Given the description of an element on the screen output the (x, y) to click on. 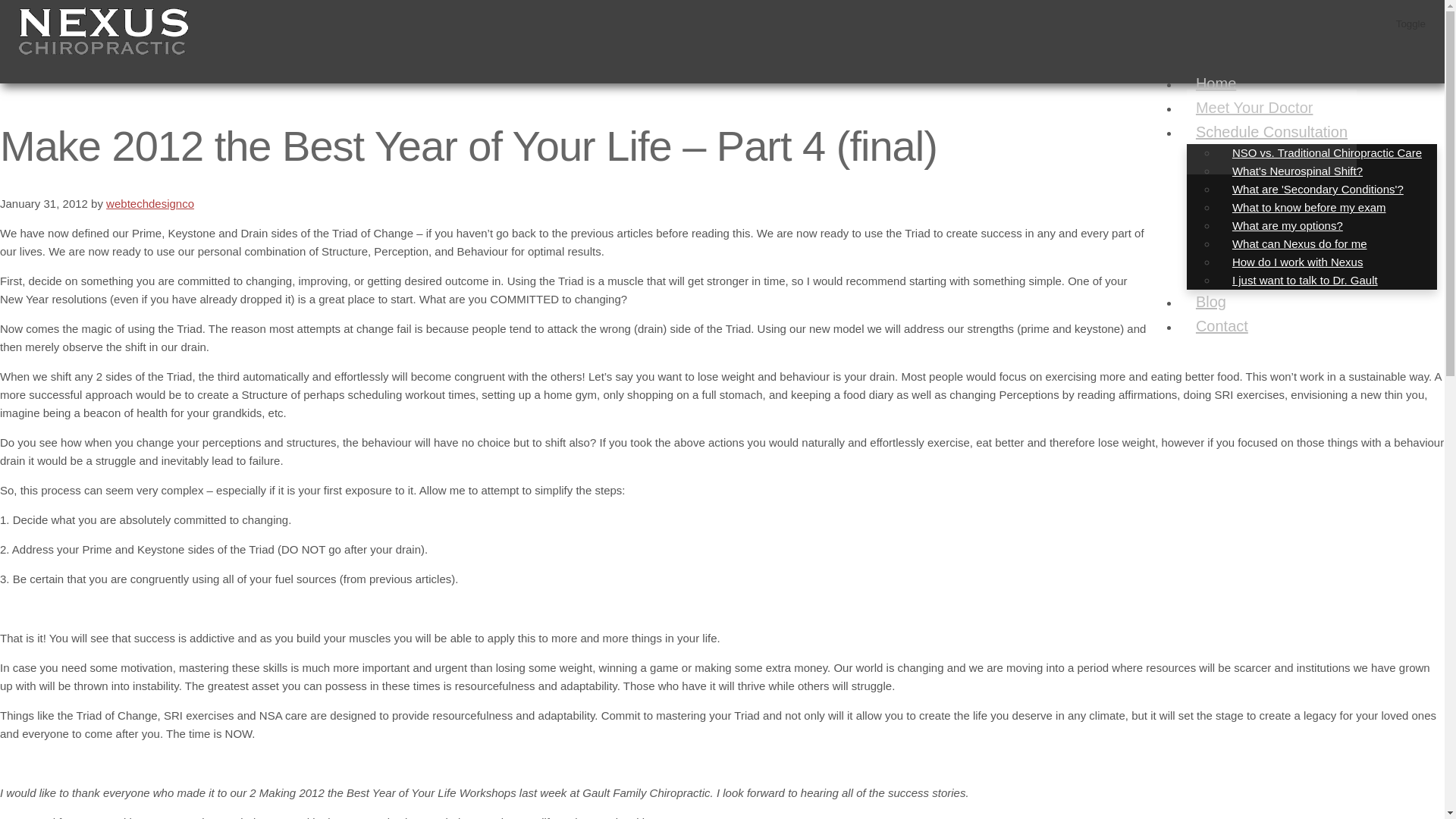
Meet Your Doctor (1254, 107)
How do I work with Nexus (1297, 261)
What to know before my exam (1308, 207)
webtechdesignco (149, 203)
What are 'Secondary Conditions'? (1317, 188)
I just want to talk to Dr. Gault (1305, 279)
Schedule Consultation (1271, 131)
Posts by webtechdesignco (149, 203)
Toggle (1410, 28)
What are my options? (1287, 225)
What's Neurospinal Shift? (1297, 170)
NSO vs. Traditional Chiropractic Care (1327, 152)
What can Nexus do for me (1299, 243)
